Given the description of an element on the screen output the (x, y) to click on. 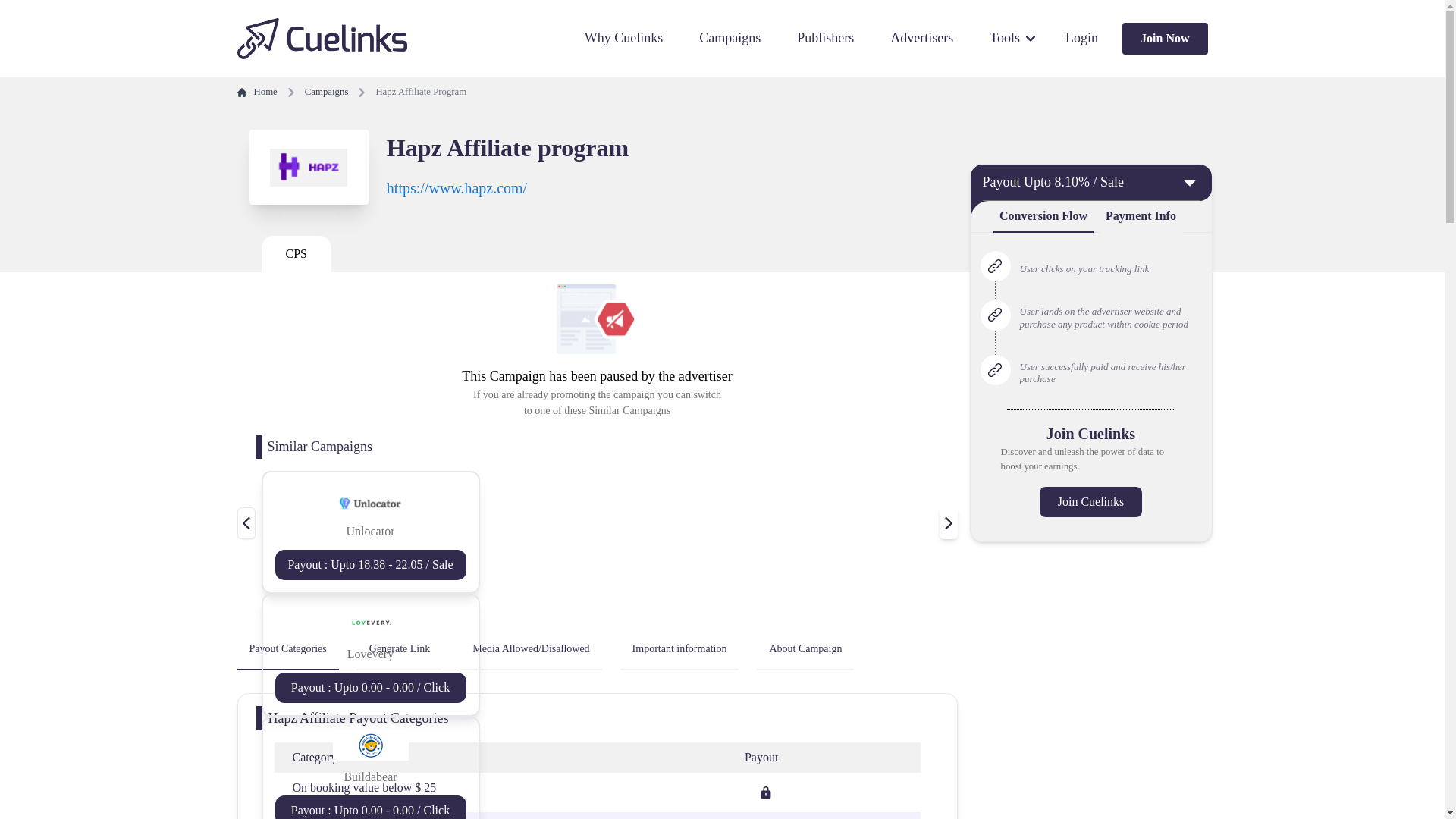
Campaigns (729, 38)
Join Now (1164, 38)
Generate Link (399, 649)
Publishers (824, 38)
Login (1081, 37)
About Campaign (805, 649)
Tools (1012, 38)
Why Cuelinks (624, 38)
Advertisers (921, 38)
Campaigns (326, 92)
